Given the description of an element on the screen output the (x, y) to click on. 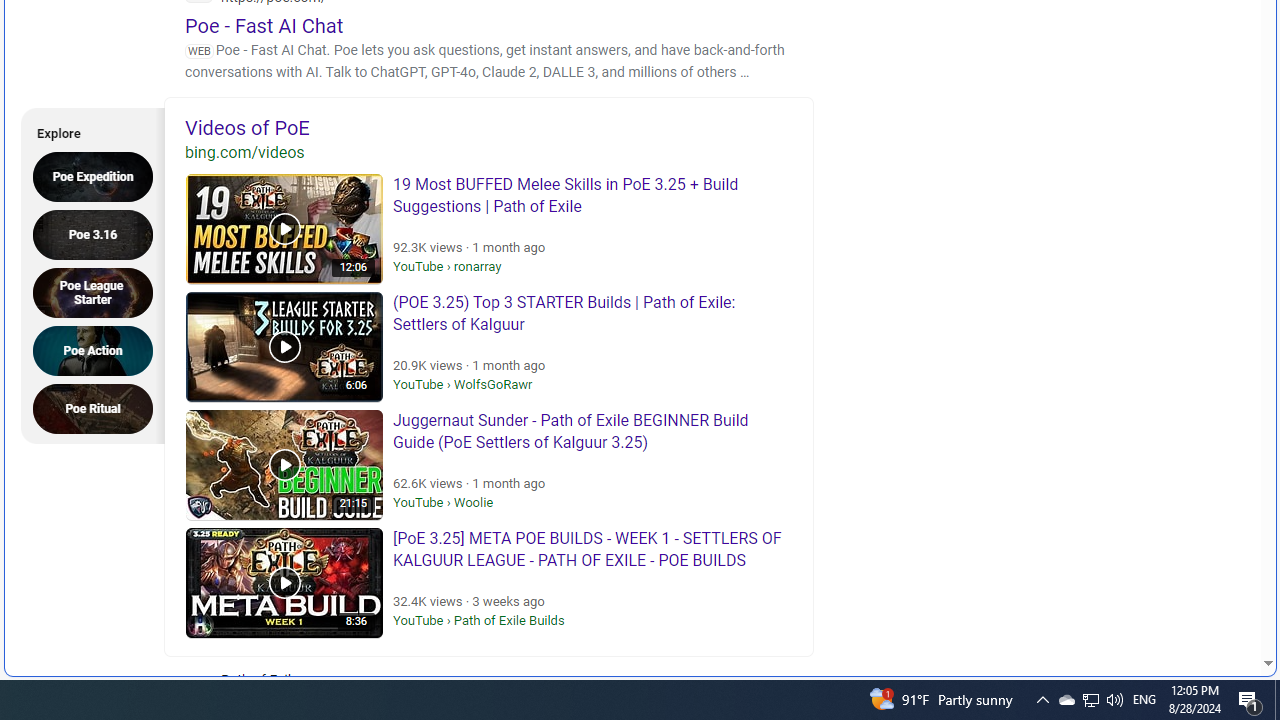
Search more (1222, 604)
Poe - Fast AI Chat (264, 25)
Videos of PoE (489, 127)
Poe League Starter (99, 292)
Poe Expedition (99, 176)
Explore (86, 130)
Path of Exile (324, 692)
Poe 3.16 (99, 233)
Poe Ritual (99, 408)
